Given the description of an element on the screen output the (x, y) to click on. 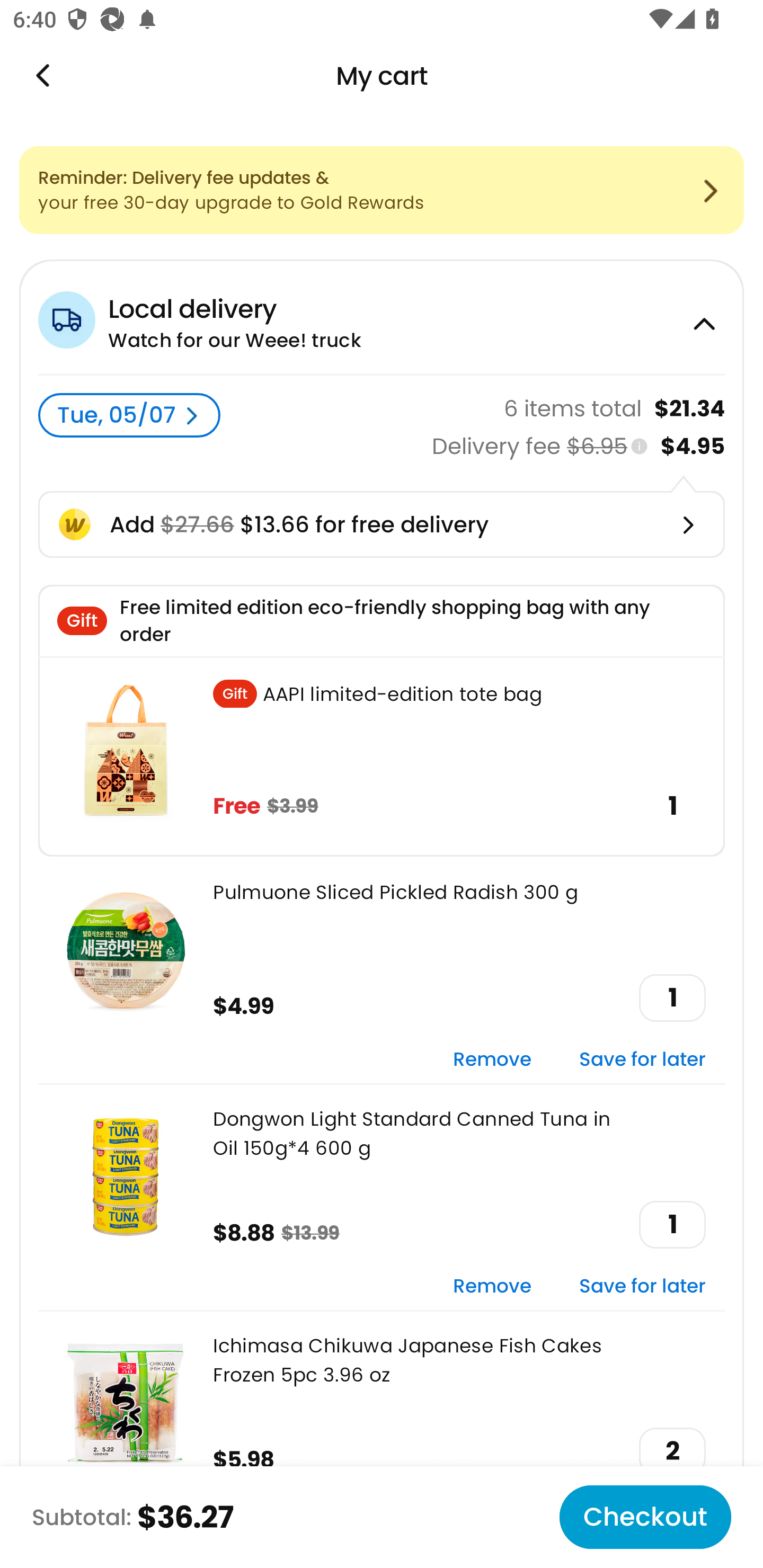
Local delivery Watch for our Weee! truck (381, 317)
Tue, 05/07 (129, 415)
Add $27.66 $13.66 for free delivery (381, 524)
. AAPI limited-edition tote bag Free $3.99 1 (381, 756)
1 (672, 997)
Remove (491, 1060)
Save for later (642, 1060)
1 (672, 1224)
Remove (491, 1286)
Save for later (642, 1286)
2 (672, 1450)
Checkout (644, 1516)
